Given the description of an element on the screen output the (x, y) to click on. 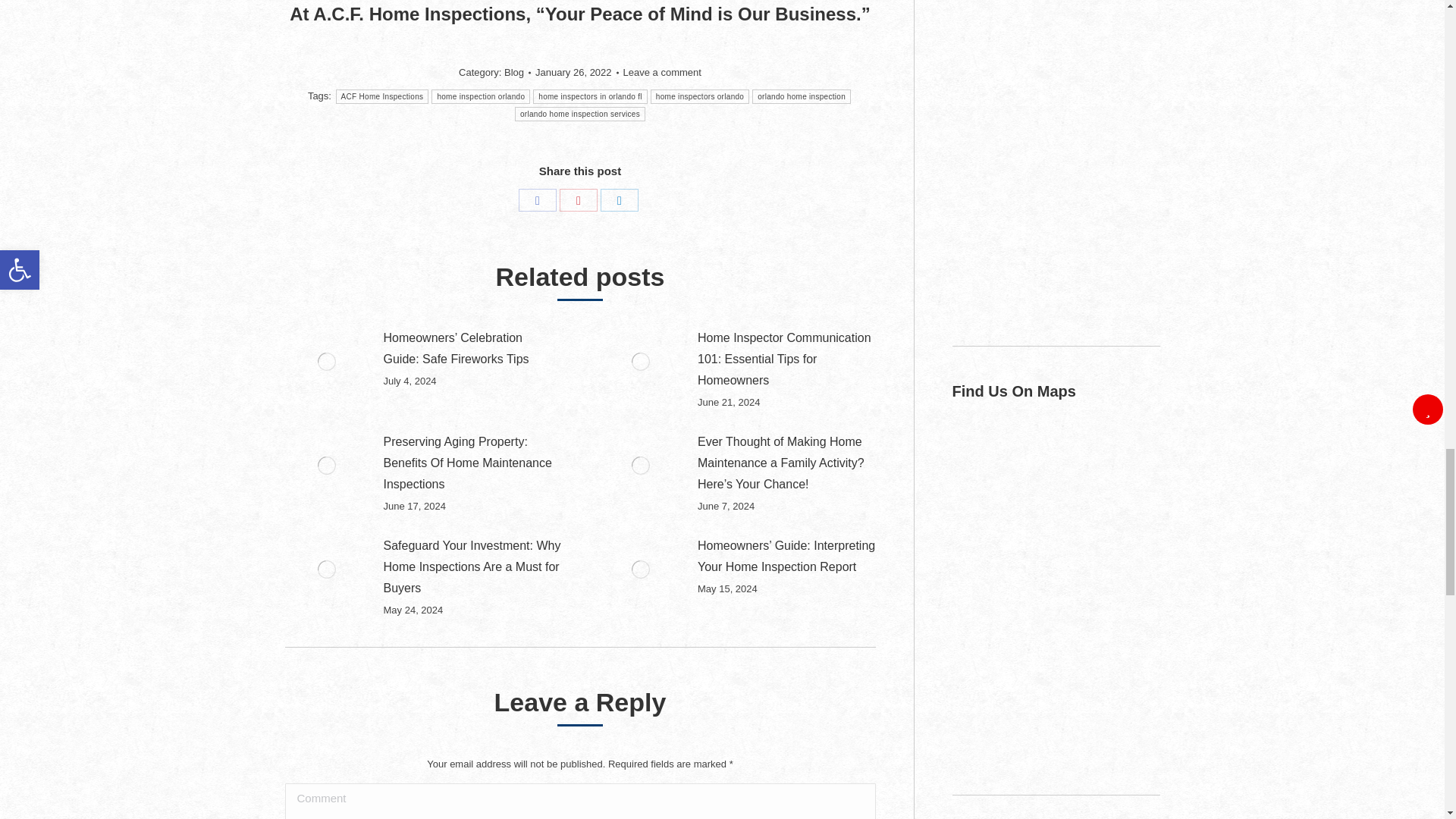
Facebook (537, 200)
10:27 am (576, 72)
LinkedIn (619, 200)
Pinterest (577, 200)
